Given the description of an element on the screen output the (x, y) to click on. 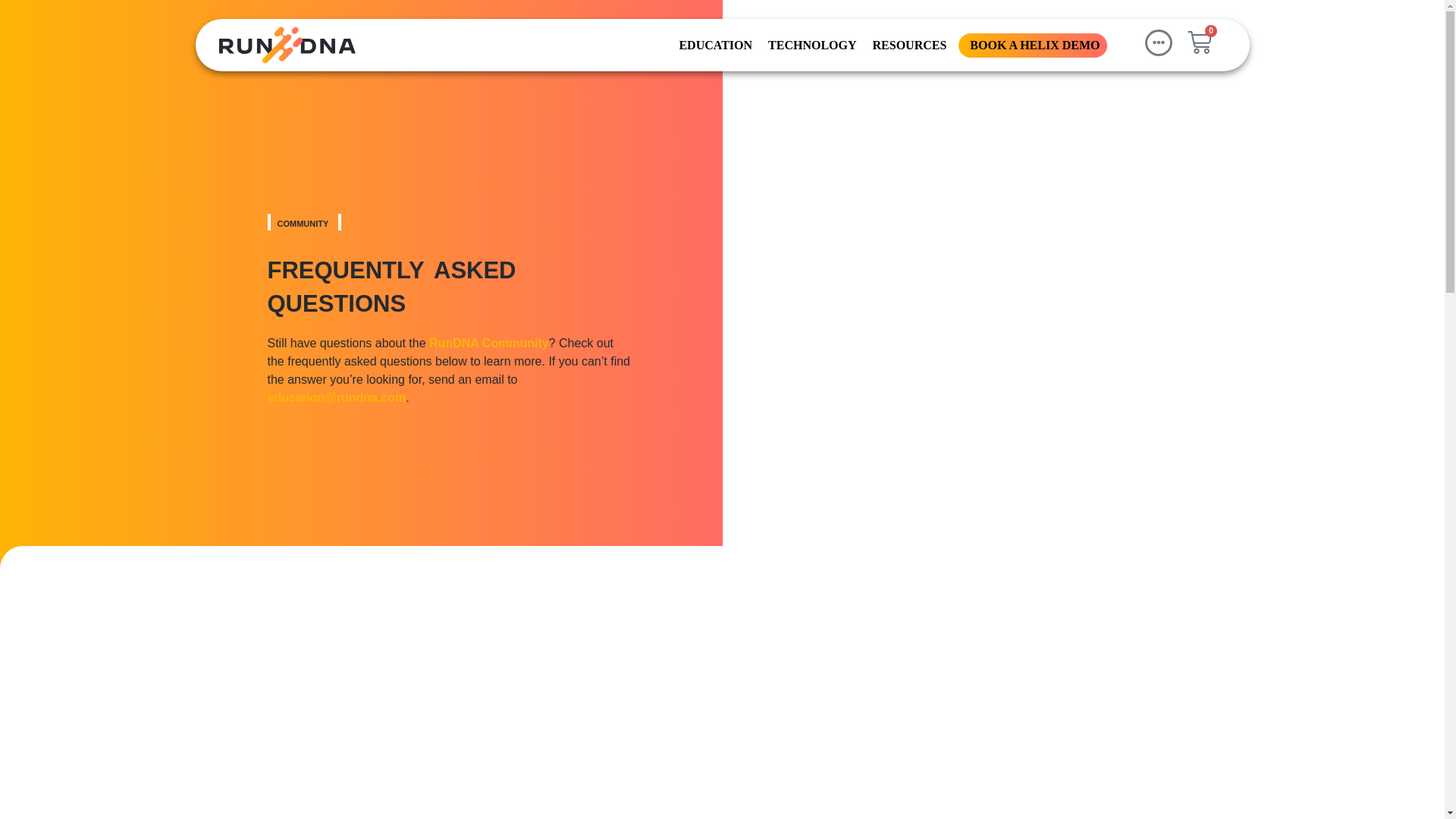
reject all (1243, 757)
accept all (1348, 757)
customize (1142, 757)
EDUCATION (713, 44)
TECHNOLOGY (810, 44)
BOOK A HELIX DEMO (1032, 44)
RESOURCES (908, 44)
